Given the description of an element on the screen output the (x, y) to click on. 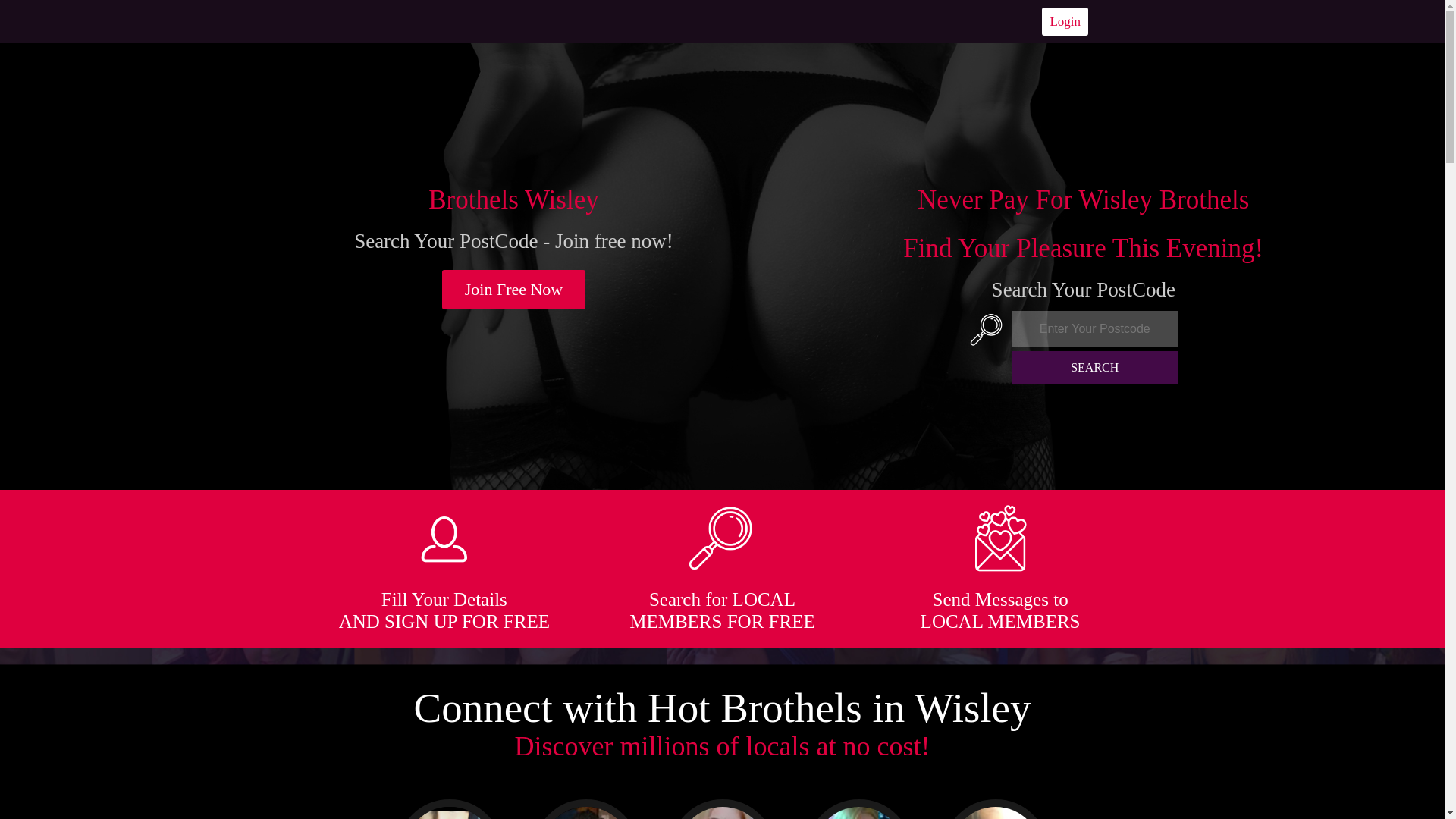
Login (1064, 21)
Join Free Now (514, 289)
Login (1064, 21)
SEARCH (1094, 367)
Join (514, 289)
